Given the description of an element on the screen output the (x, y) to click on. 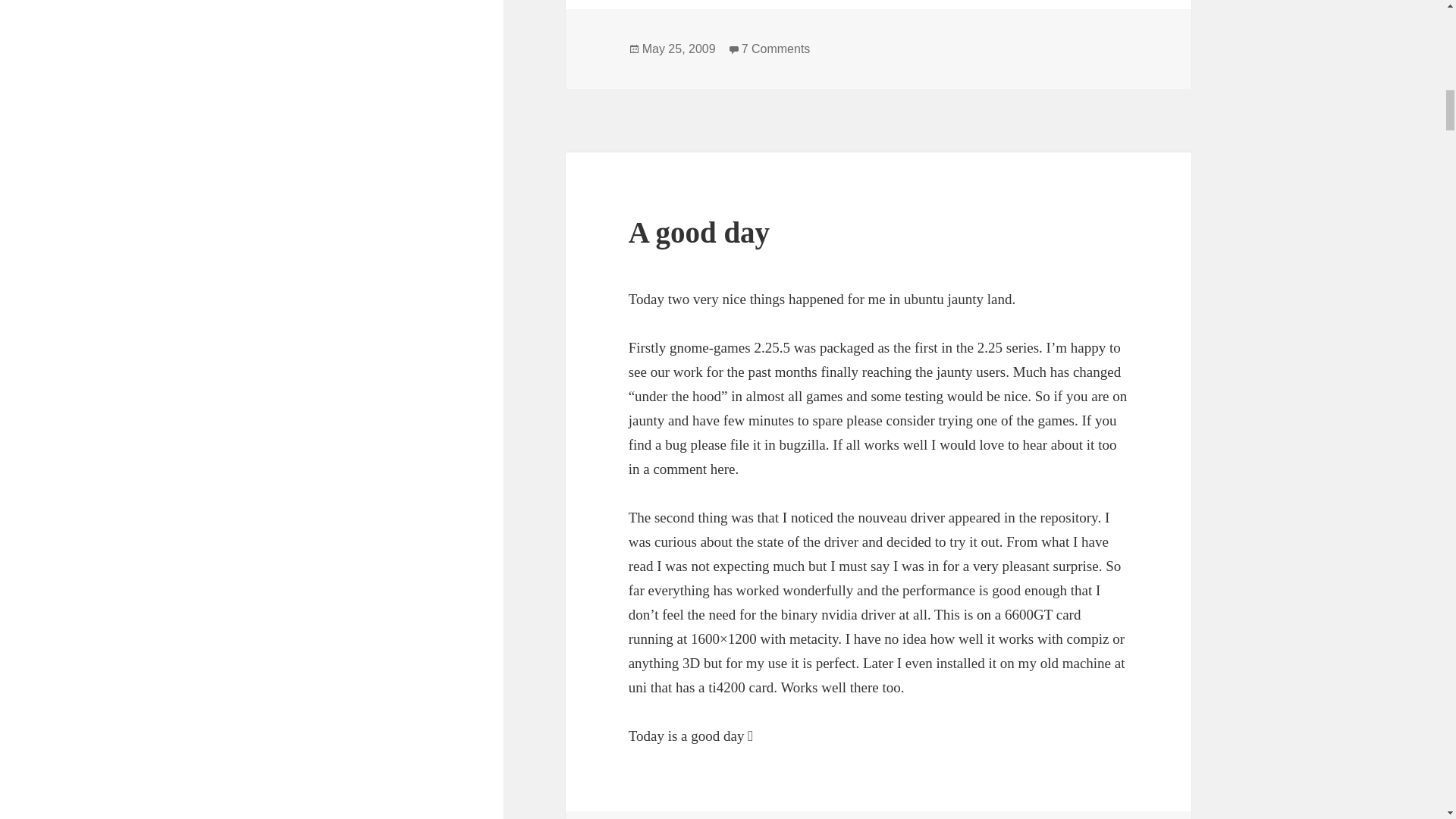
May 25, 2009 (679, 49)
A good day (699, 232)
